Given the description of an element on the screen output the (x, y) to click on. 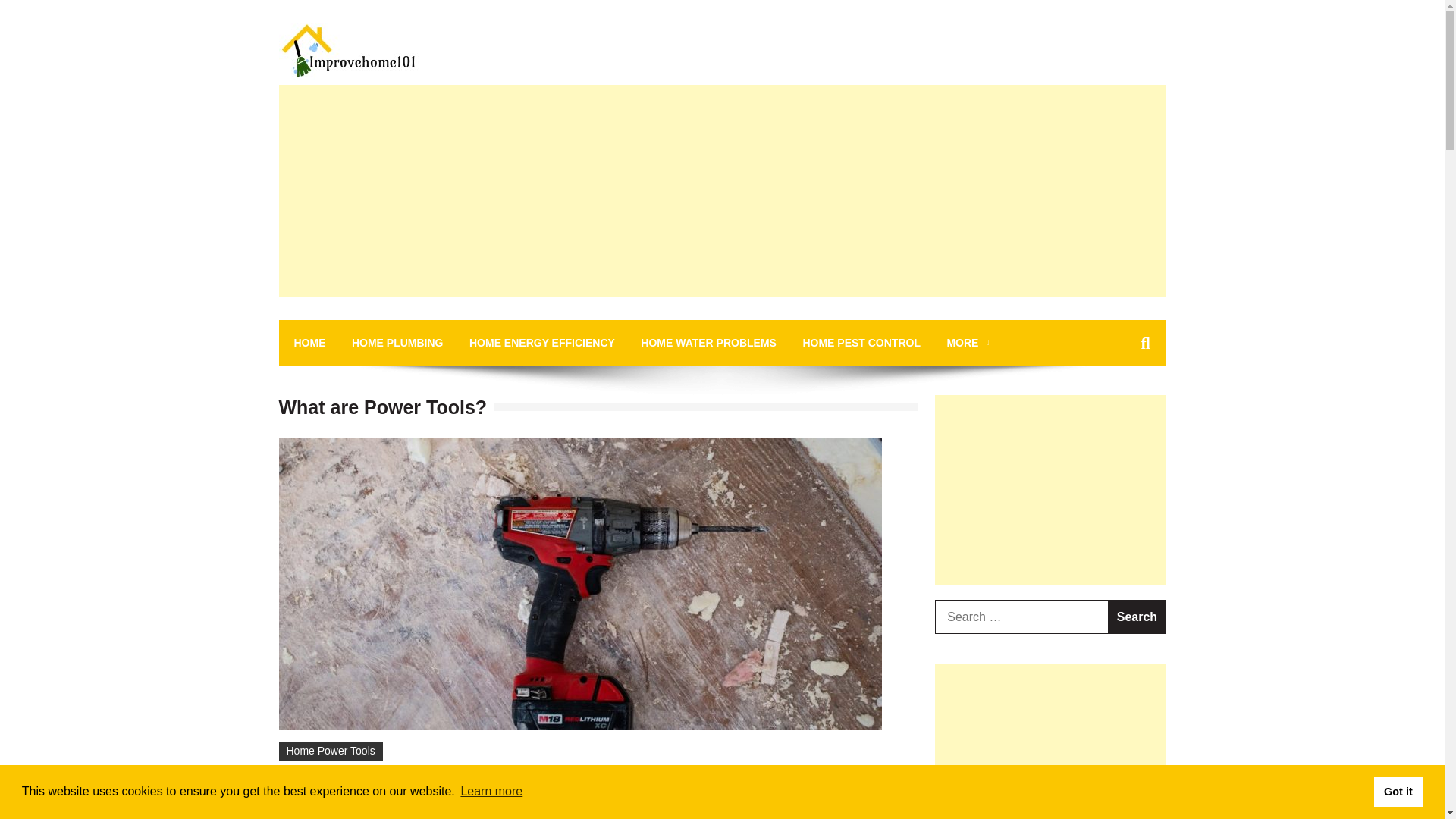
HOME PEST CONTROL (861, 343)
Search (1137, 616)
Advertisement (1050, 741)
Home Power Tools (330, 751)
Search (1120, 410)
HOME PLUMBING (398, 343)
HOME ENERGY EFFICIENCY (541, 343)
Advertisement (1050, 489)
HOME WATER PROBLEMS (708, 343)
Search (1137, 616)
Improvehome101 (388, 100)
